Given the description of an element on the screen output the (x, y) to click on. 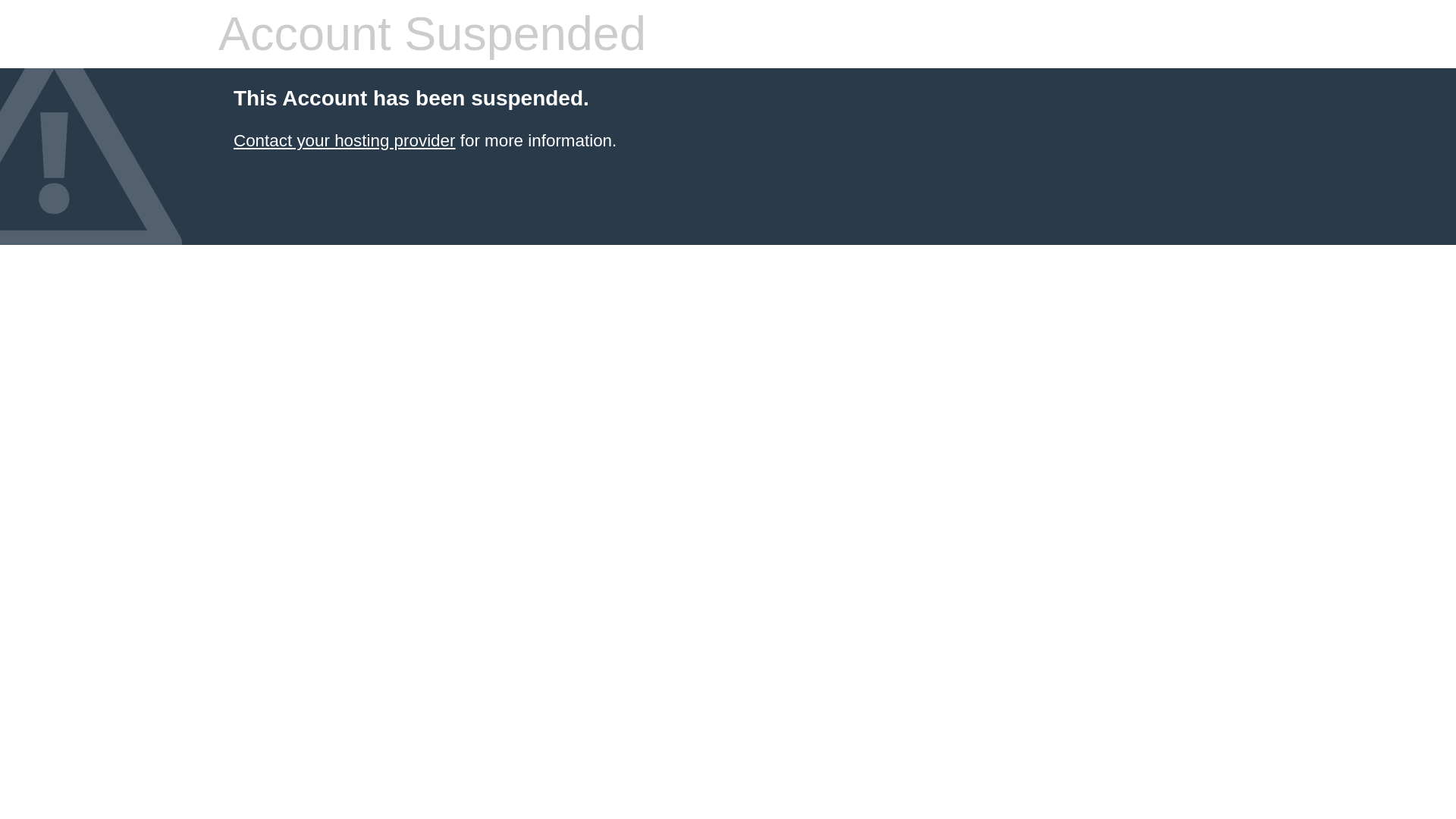
NameHero.com (343, 140)
Contact your hosting provider (343, 140)
